Given the description of an element on the screen output the (x, y) to click on. 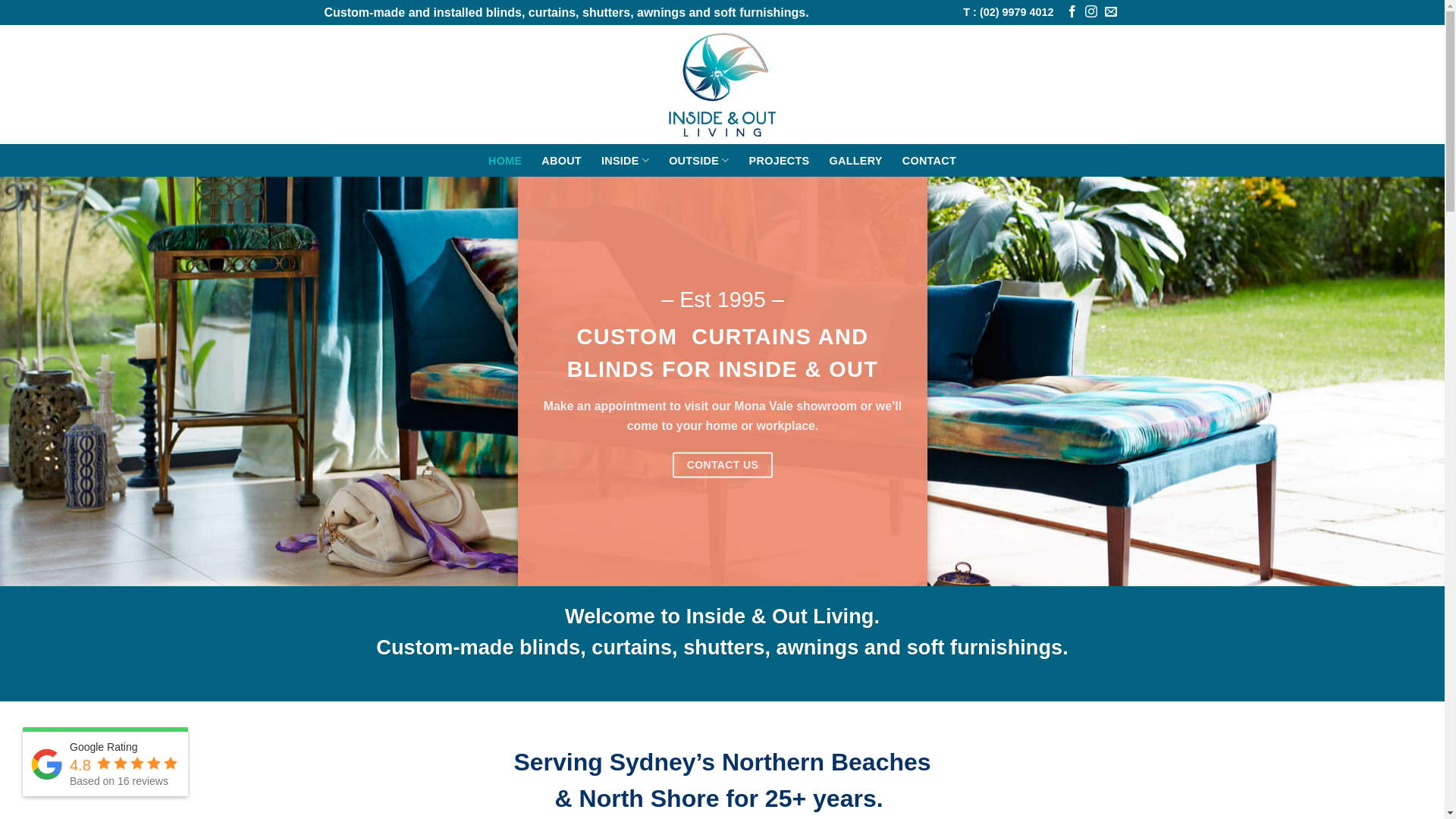
GALLERY Element type: text (854, 160)
PROJECTS Element type: text (779, 160)
CONTACT US Element type: text (721, 464)
ABOUT Element type: text (561, 160)
HOME Element type: text (504, 160)
INSIDE Element type: text (625, 160)
CONTACT Element type: text (929, 160)
T : (02) 9979 4012 Element type: text (1008, 12)
OUTSIDE Element type: text (698, 160)
